Given the description of an element on the screen output the (x, y) to click on. 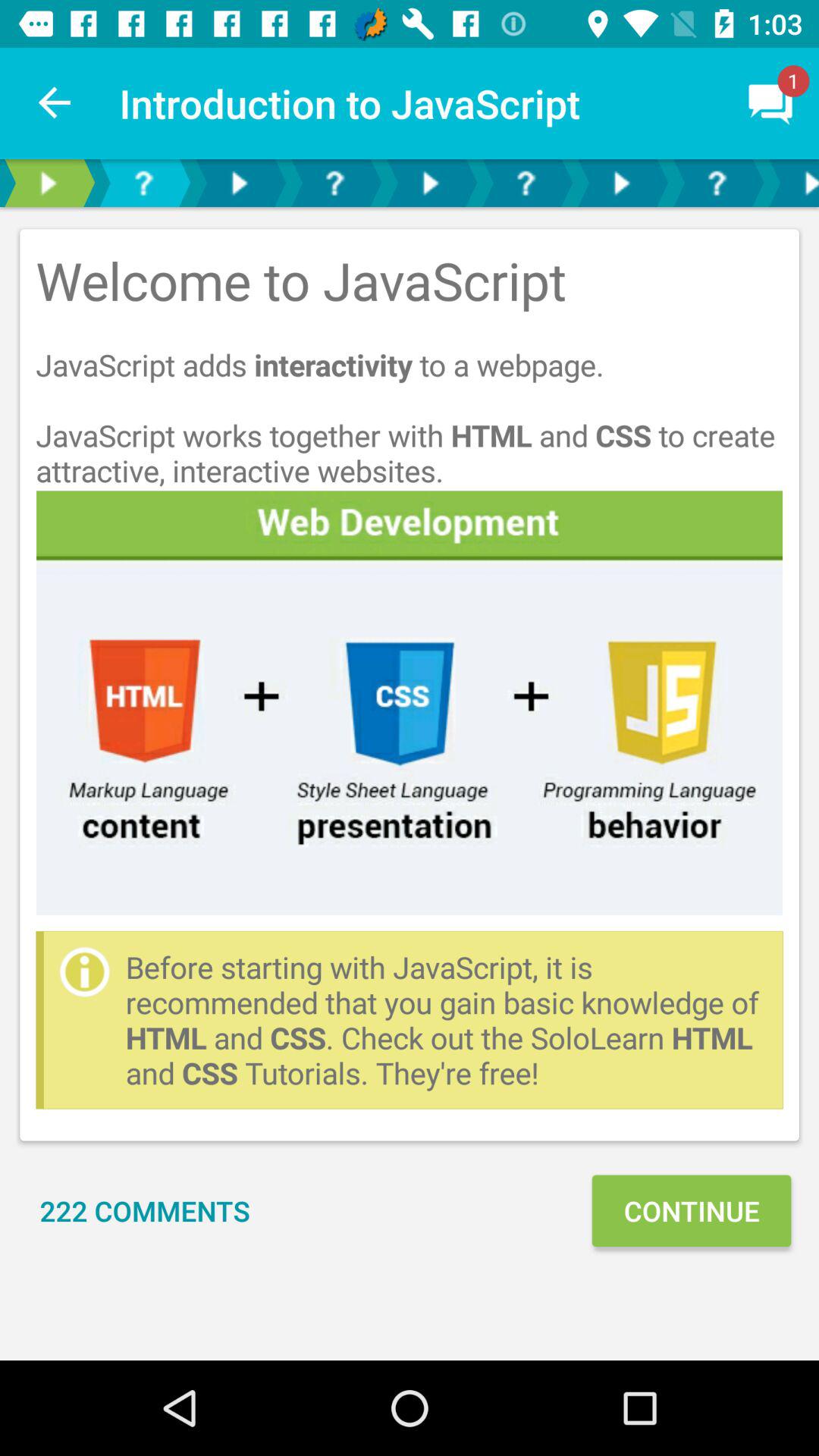
choose item to the left of introduction to javascript item (55, 103)
